Given the description of an element on the screen output the (x, y) to click on. 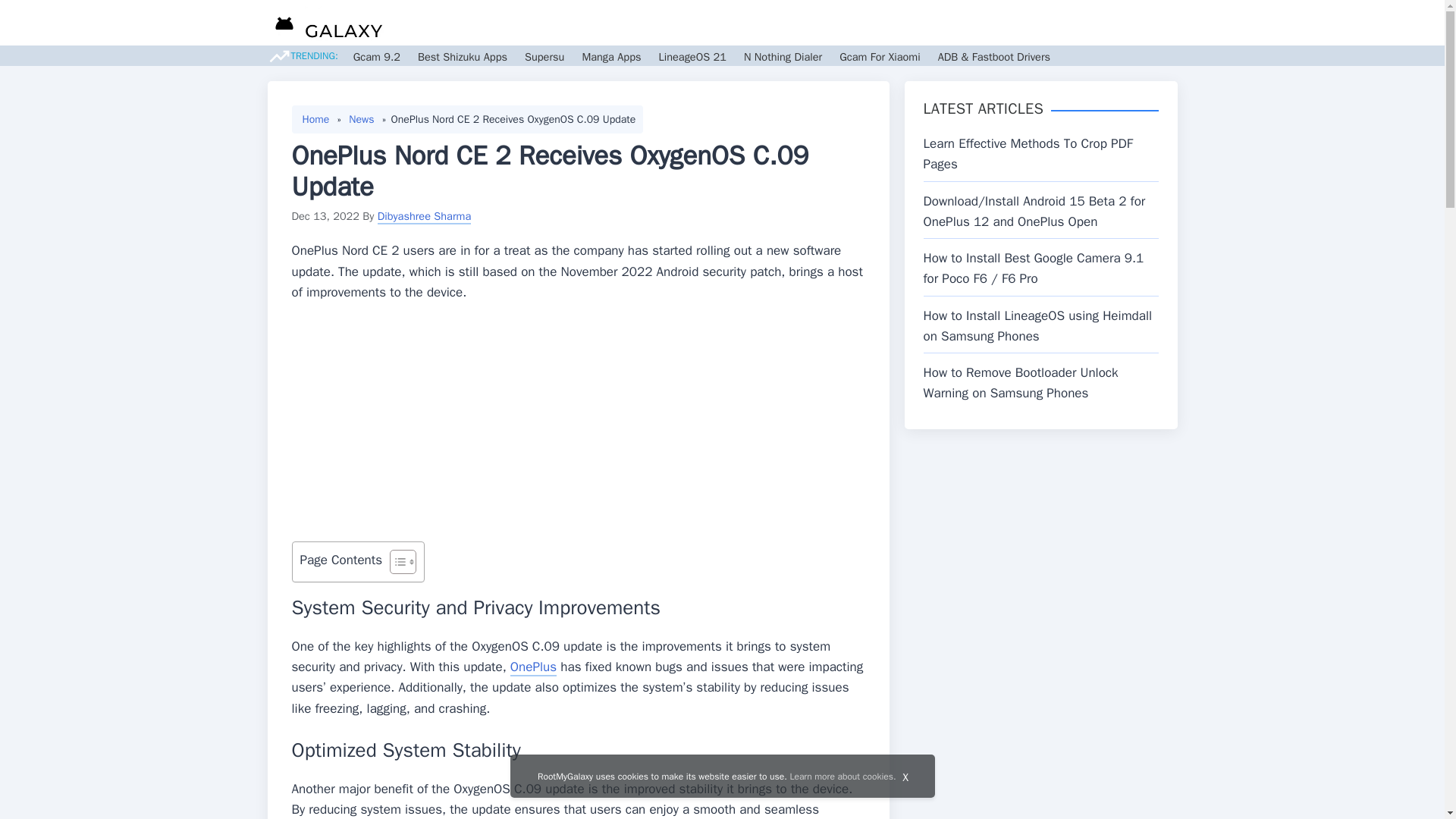
Best Shizuku Apps (461, 56)
Gcam For Xiaomi (880, 56)
Manga Apps (610, 56)
Wallpapers (900, 22)
N Nothing Dialer (783, 56)
Gcam (837, 22)
About Us (1101, 22)
OnePlus (533, 667)
View all posts by Dibyashree Sharma (424, 215)
Advertisement (577, 427)
